Given the description of an element on the screen output the (x, y) to click on. 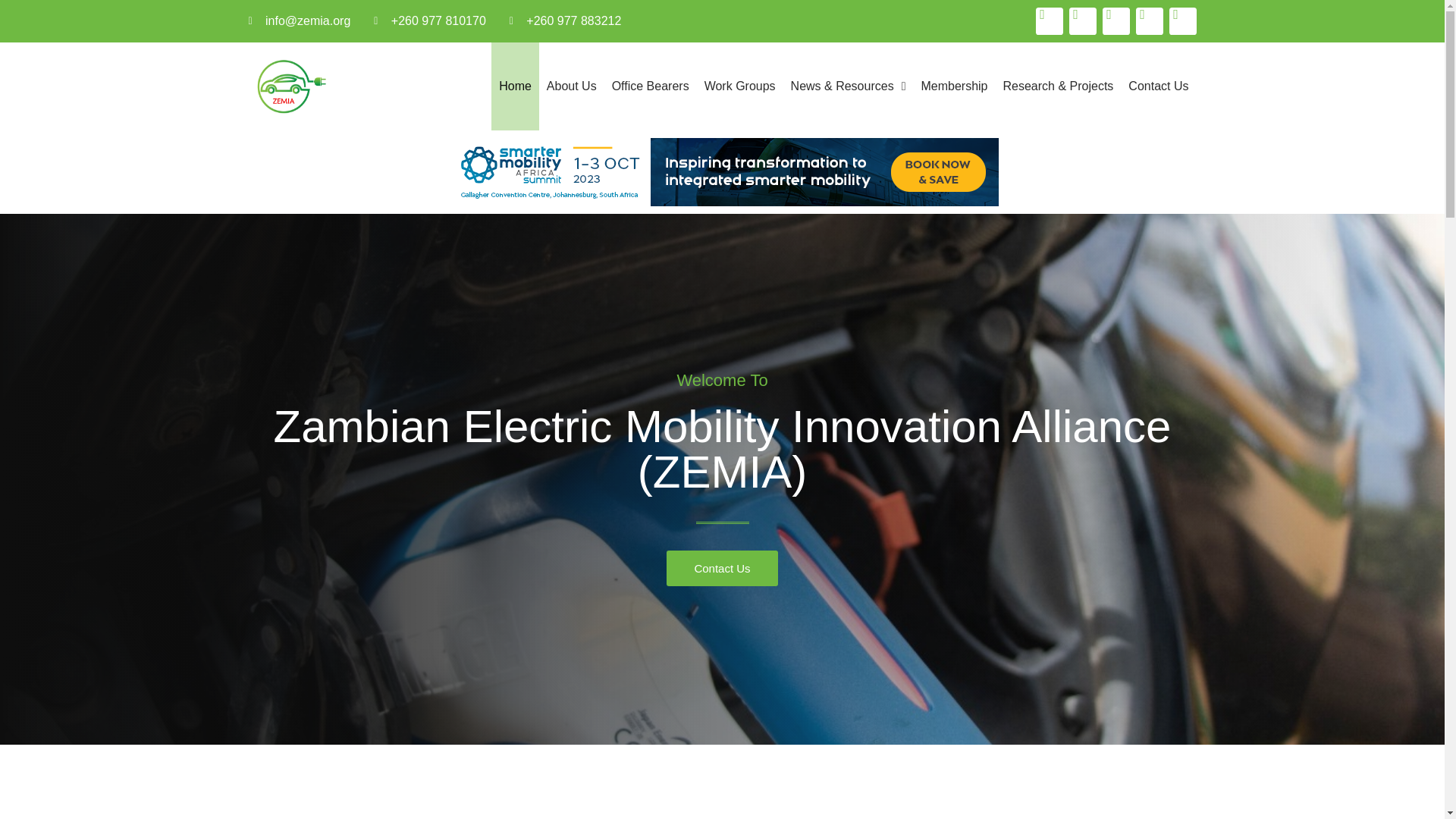
Contact Us (721, 568)
Membership (953, 86)
Office Bearers (650, 86)
Work Groups (740, 86)
